Given the description of an element on the screen output the (x, y) to click on. 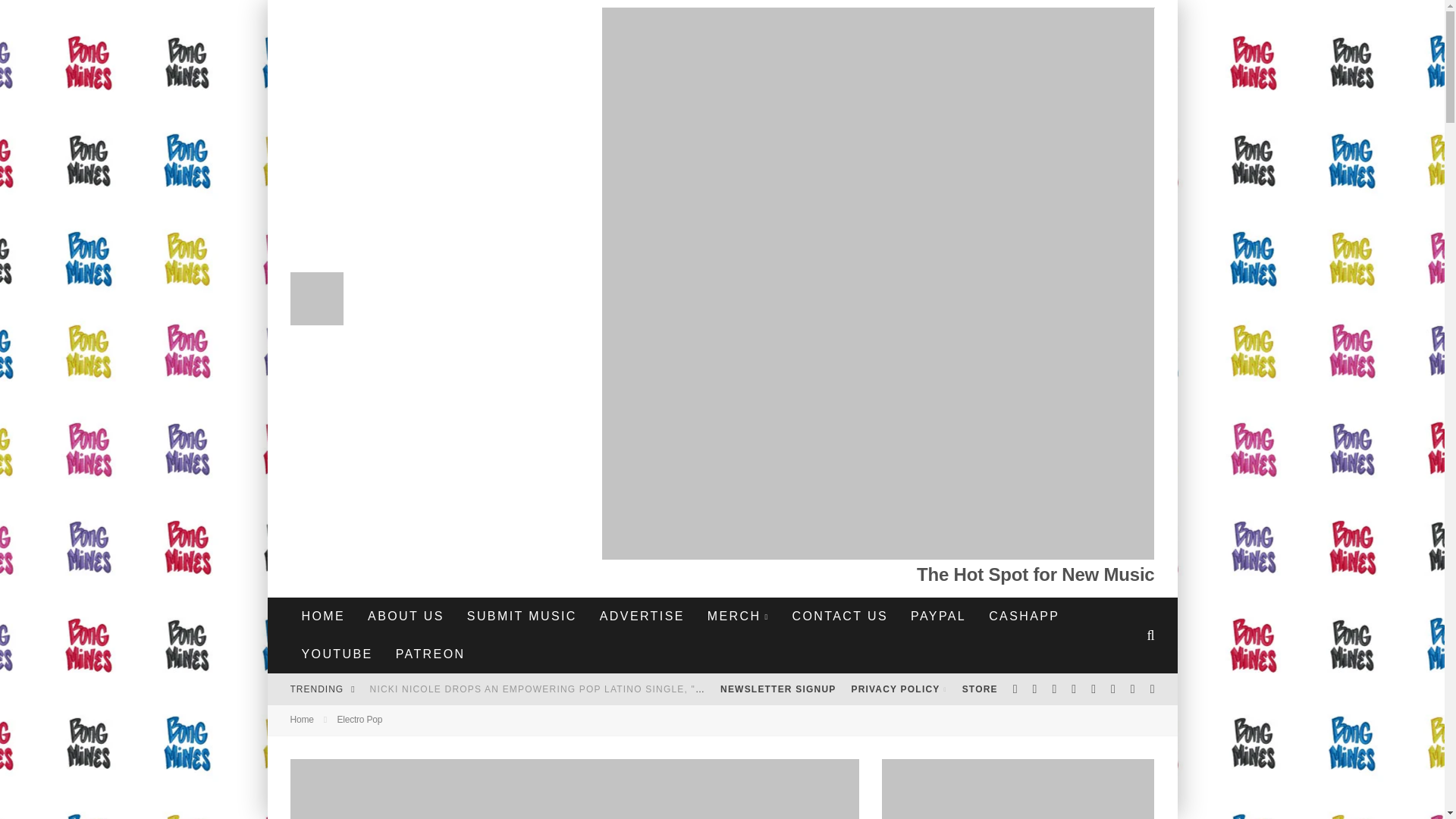
SUBMIT MUSIC (521, 616)
PRIVACY POLICY (898, 689)
CASHAPP (1023, 616)
ABOUT US (405, 616)
PATREON (430, 654)
CONTACT US (839, 616)
NEWSLETTER SIGNUP (778, 689)
MERCH (737, 616)
HOME (322, 616)
YOUTUBE (336, 654)
